Given the description of an element on the screen output the (x, y) to click on. 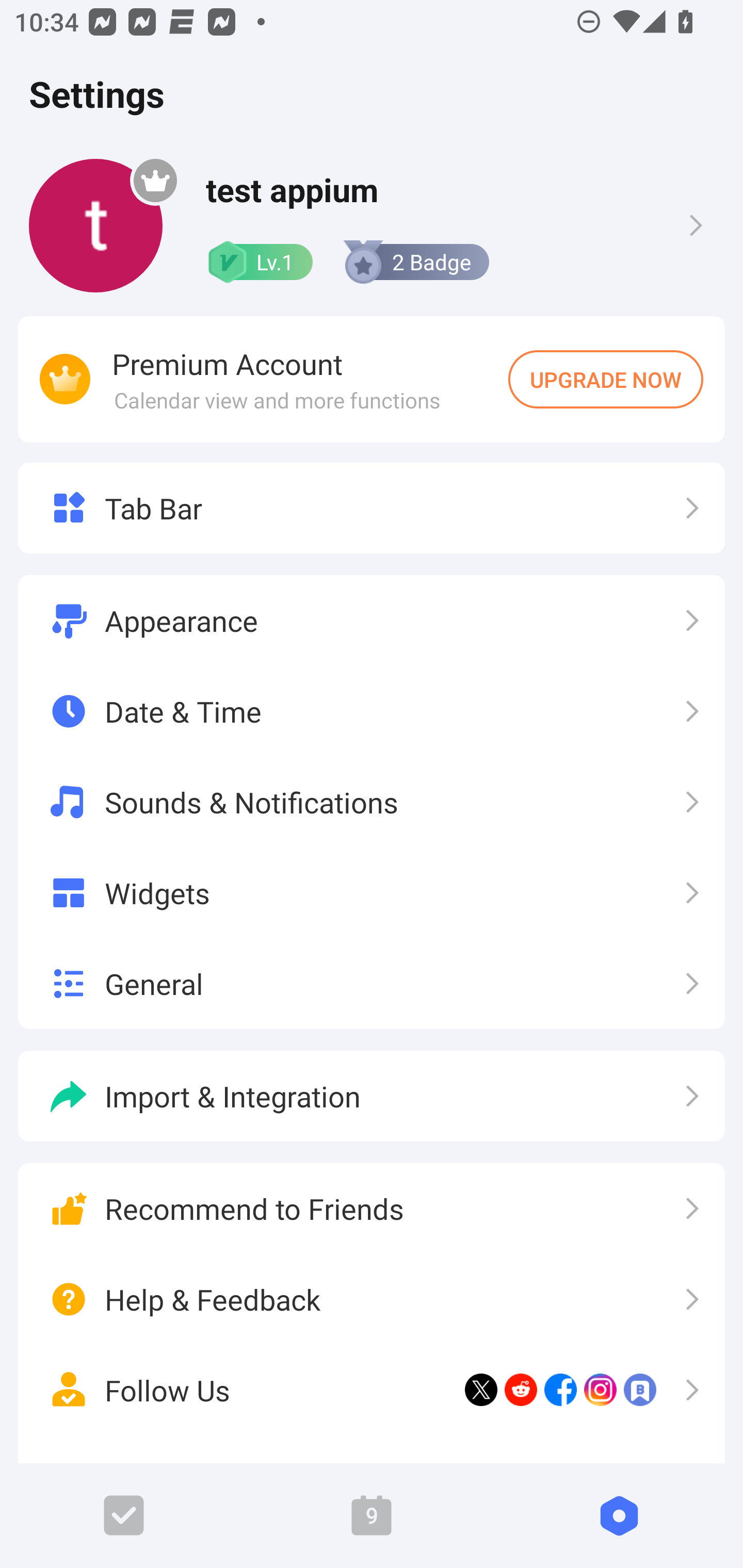
test appium Lv.1 2 Badge (371, 225)
Lv.1 (258, 261)
2 Badge (414, 261)
UPGRADE NOW (605, 379)
Tab Bar (371, 507)
Appearance (371, 620)
Date & Time (371, 711)
Sounds & Notifications (371, 801)
Widgets (371, 891)
General (371, 982)
Import & Integration (371, 1095)
Recommend to Friends (371, 1208)
Help & Feedback (371, 1299)
Follow Us (371, 1389)
